Given the description of an element on the screen output the (x, y) to click on. 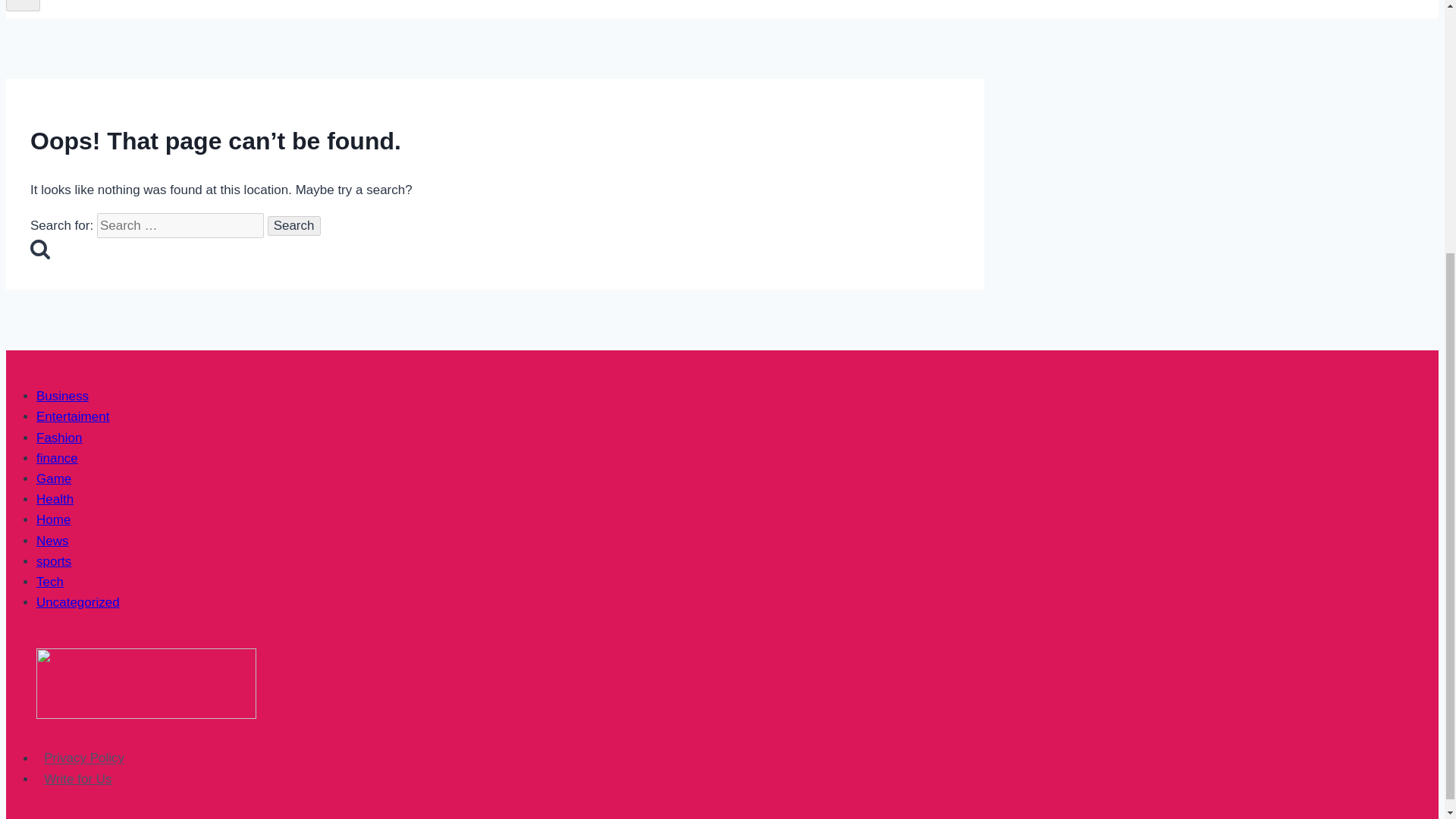
Health (55, 499)
Tech (50, 581)
Search (293, 225)
finance (57, 458)
Toggle Menu (22, 5)
Search (293, 225)
Home (52, 519)
Search (39, 248)
sports (53, 561)
